Given the description of an element on the screen output the (x, y) to click on. 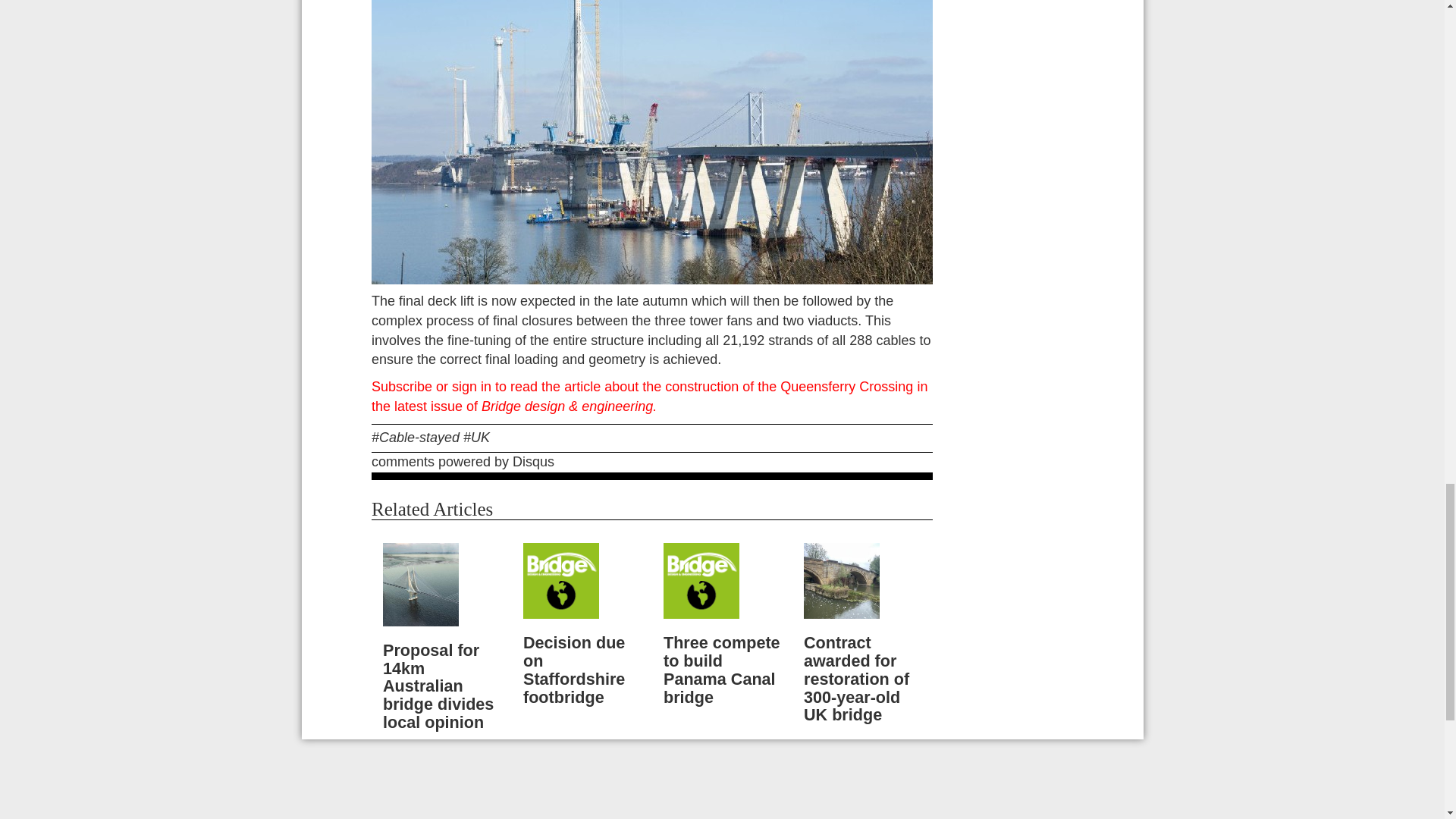
3rd party ad content (721, 790)
